Given the description of an element on the screen output the (x, y) to click on. 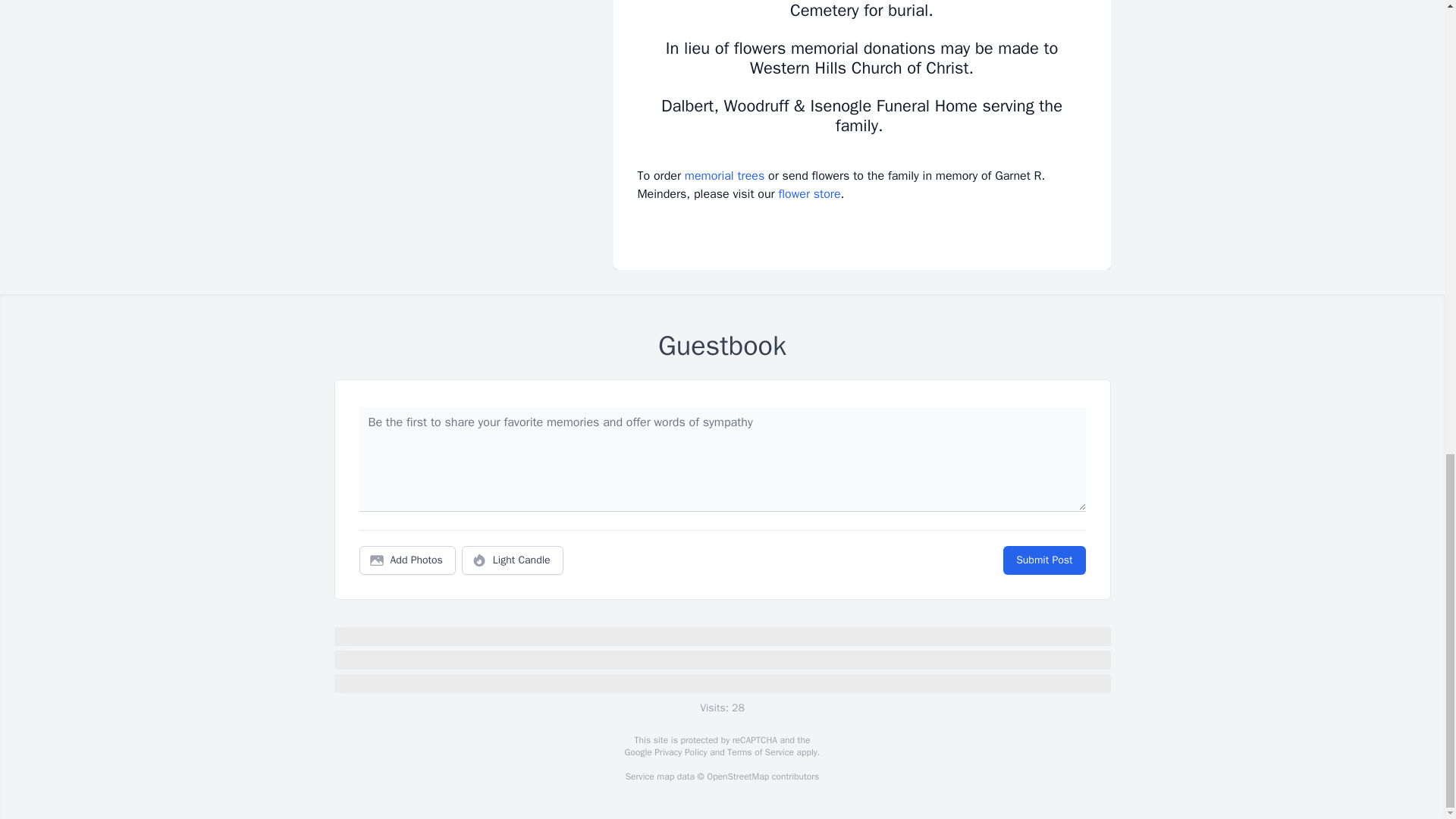
Light Candle (512, 560)
Submit Post (1043, 560)
Privacy Policy (679, 752)
memorial trees (724, 175)
OpenStreetMap (737, 776)
Add Photos (407, 560)
Terms of Service (759, 752)
flower store (808, 193)
